Given the description of an element on the screen output the (x, y) to click on. 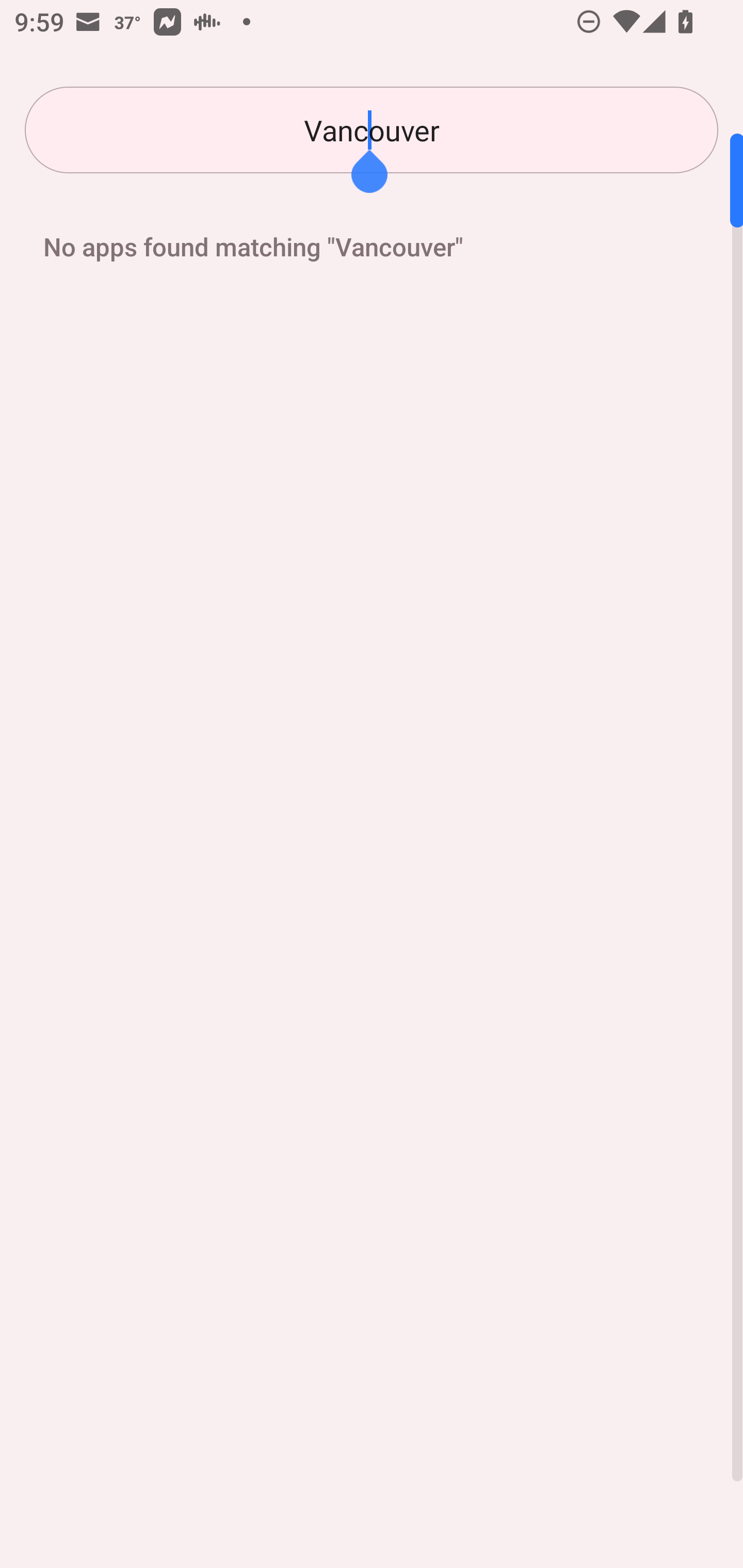
Vancouver (371, 130)
